Given the description of an element on the screen output the (x, y) to click on. 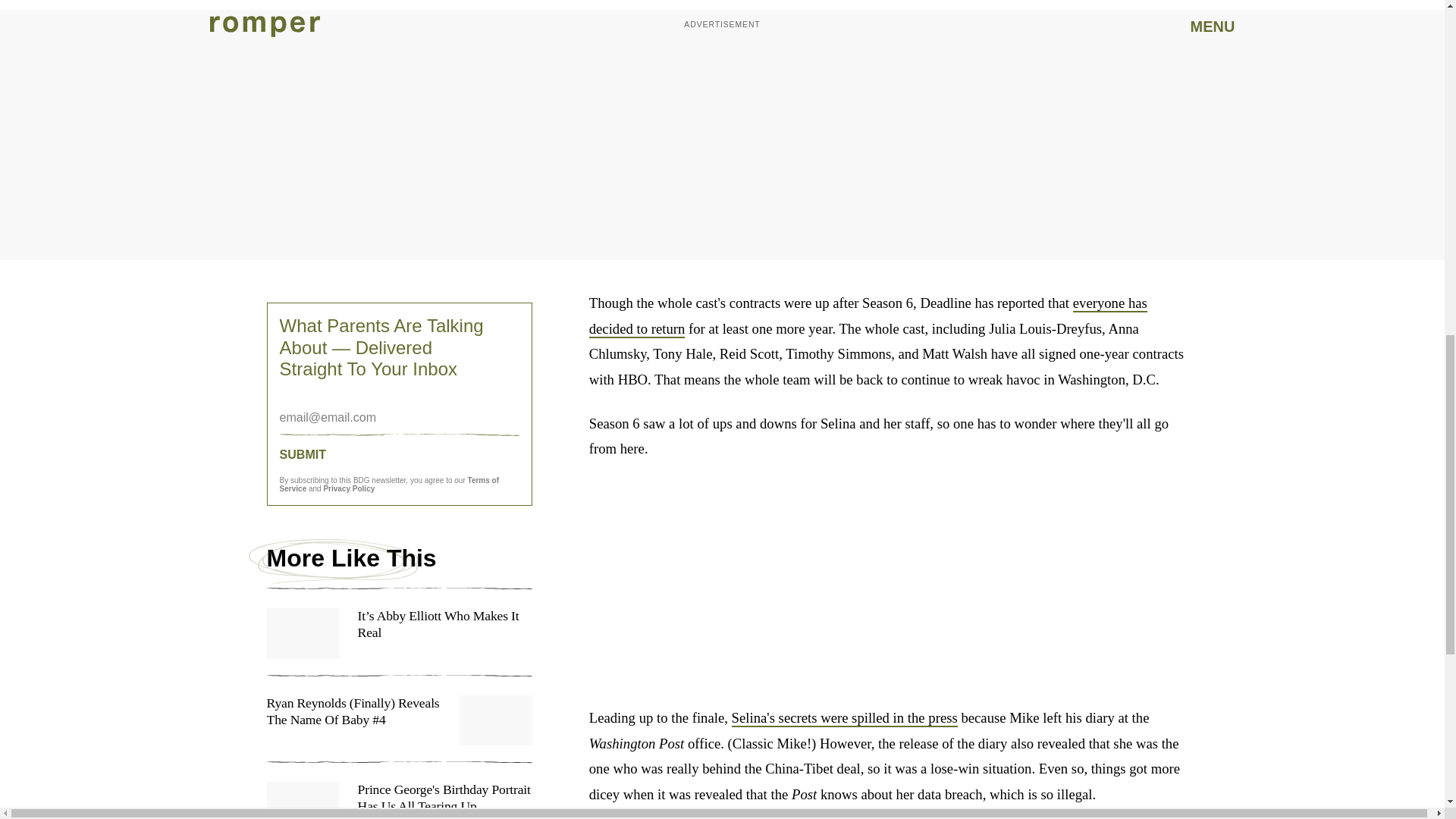
Prince George's Birthday Portrait Has Us All Tearing Up (399, 800)
everyone has decided to return (868, 316)
Privacy Policy (348, 488)
SUBMIT (399, 453)
Terms of Service (389, 484)
Selina's secrets were spilled in the press (845, 718)
